Given the description of an element on the screen output the (x, y) to click on. 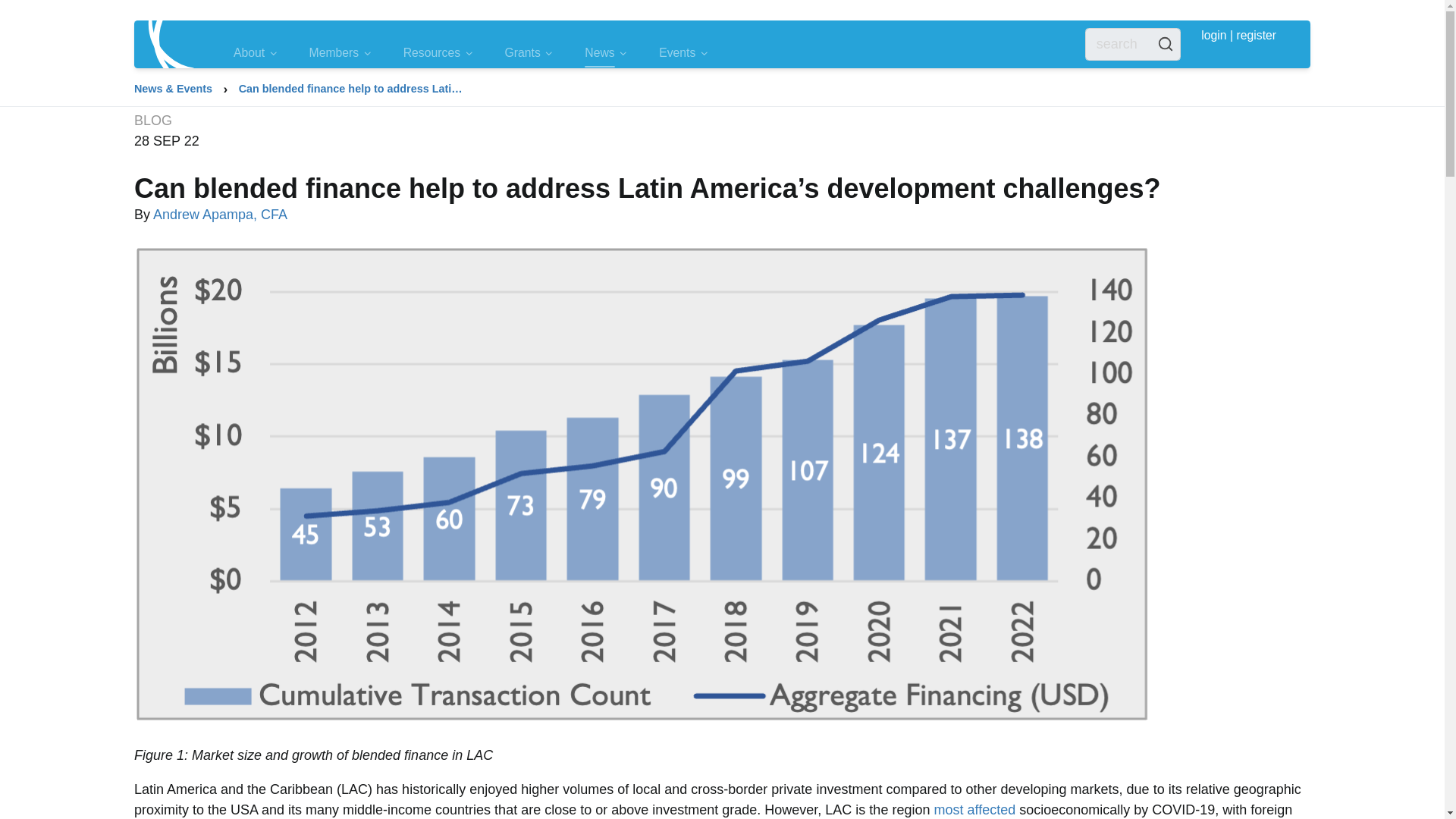
Grants (529, 52)
most affected (973, 809)
News (606, 52)
Andrew Apampa, CFA (219, 214)
Resources (438, 52)
News (599, 52)
register (1256, 44)
Events (677, 52)
login (1214, 44)
Convergence Blended Finance (169, 43)
About (248, 52)
Members (333, 52)
Members (341, 52)
Andrew Apampa, CFA (219, 214)
Grants (522, 52)
